Given the description of an element on the screen output the (x, y) to click on. 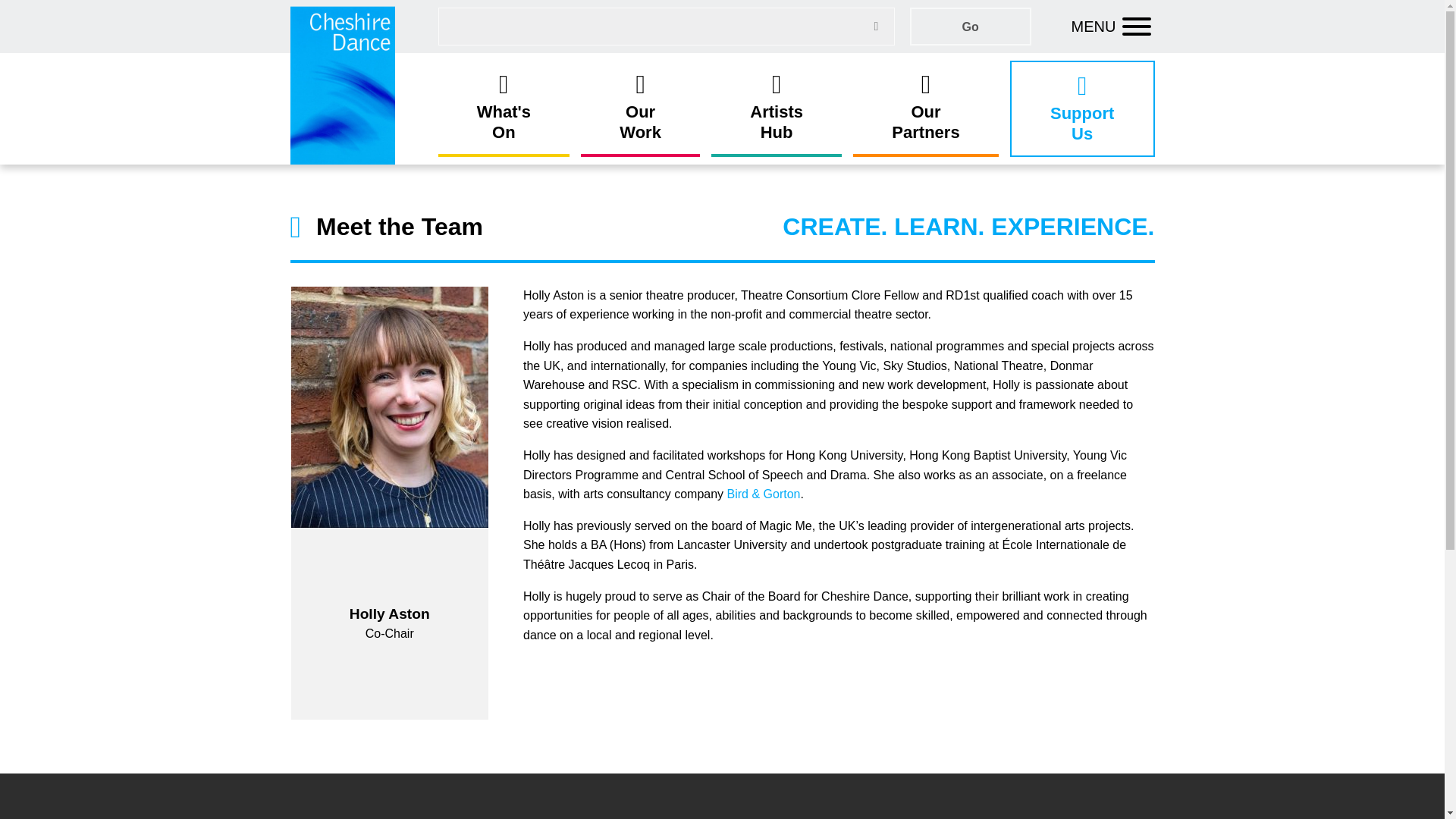
Go (504, 108)
